Given the description of an element on the screen output the (x, y) to click on. 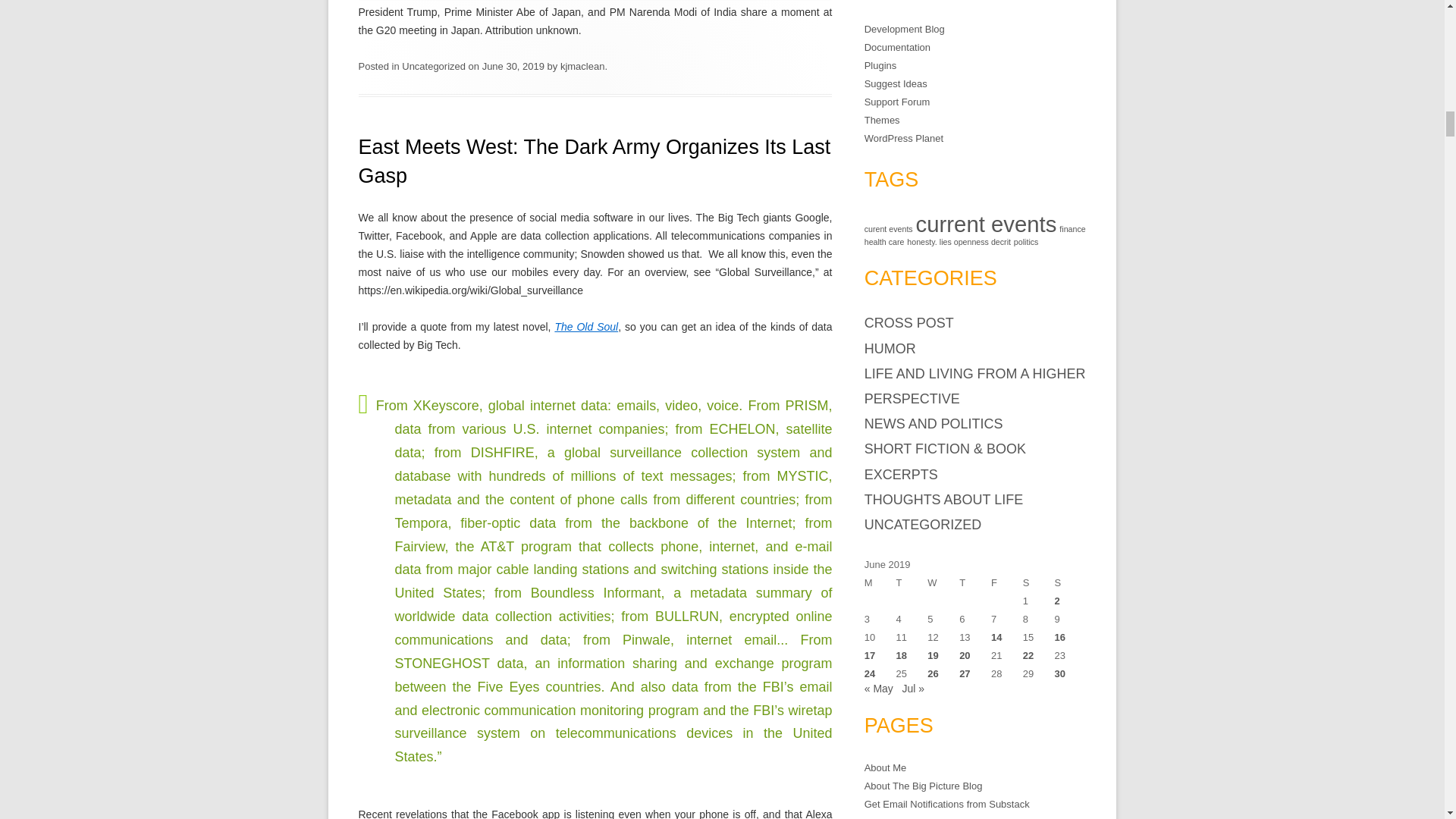
The Old Soul (585, 326)
View all posts by kjmaclean (582, 66)
East Meets West: The Dark Army Organizes Its Last Gasp (593, 161)
Uncategorized (433, 66)
kjmaclean (582, 66)
June 30, 2019 (512, 66)
2:33 pm (512, 66)
